Given the description of an element on the screen output the (x, y) to click on. 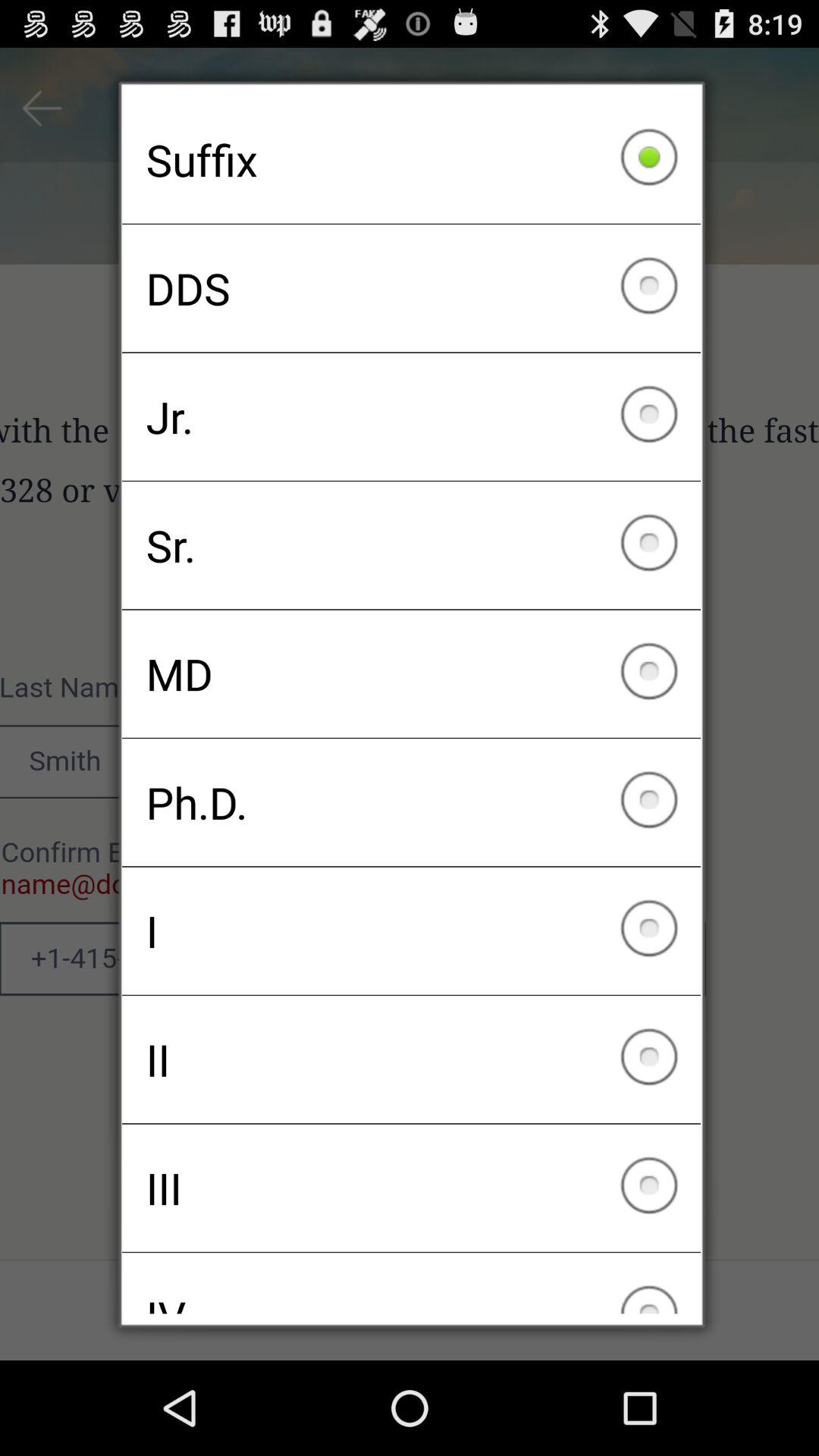
turn off checkbox below suffix icon (411, 288)
